Given the description of an element on the screen output the (x, y) to click on. 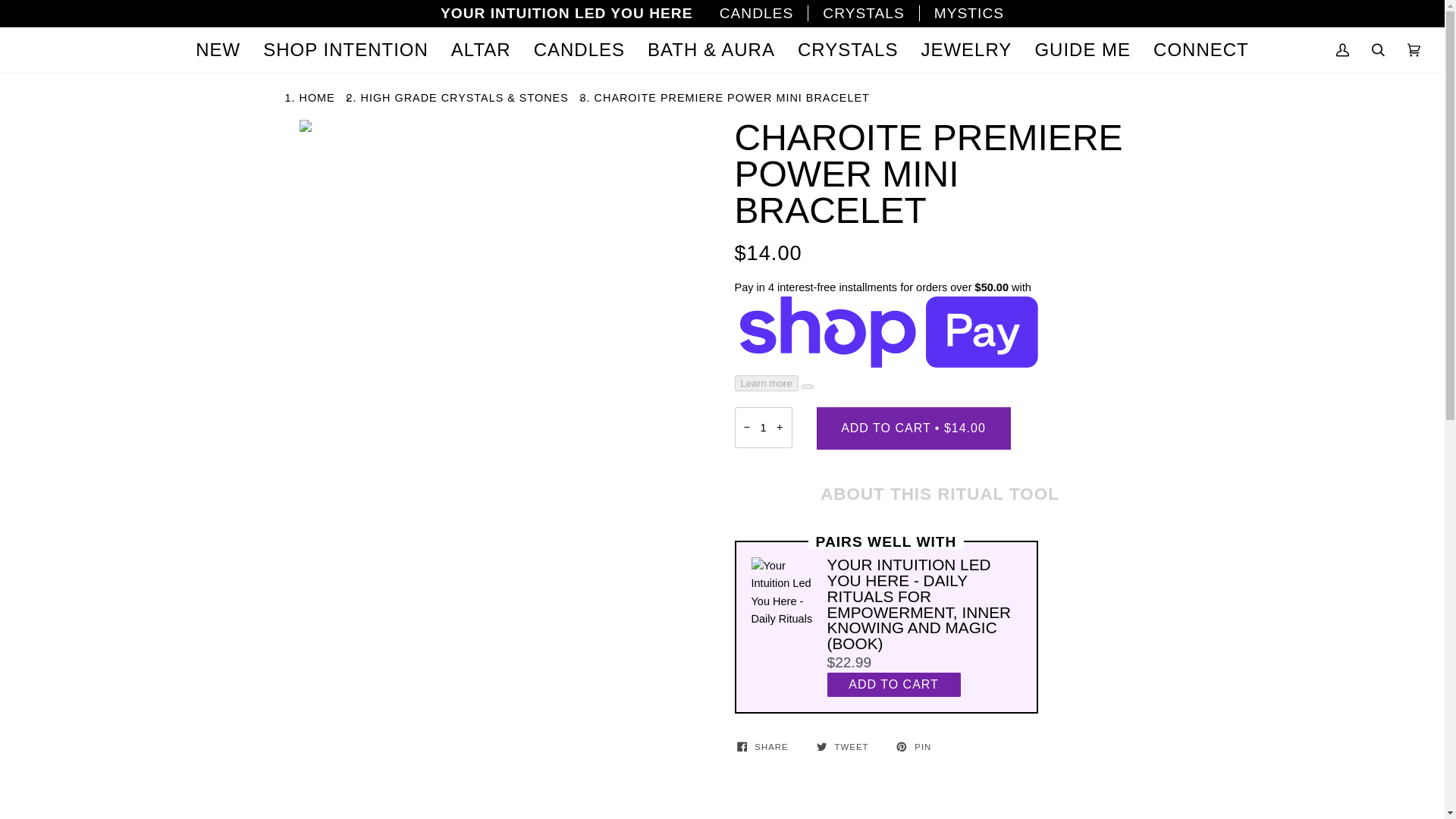
NEW (217, 49)
ALTAR (480, 49)
1 (762, 427)
Back to the frontpage (318, 97)
SHOP INTENTION (345, 49)
